Given the description of an element on the screen output the (x, y) to click on. 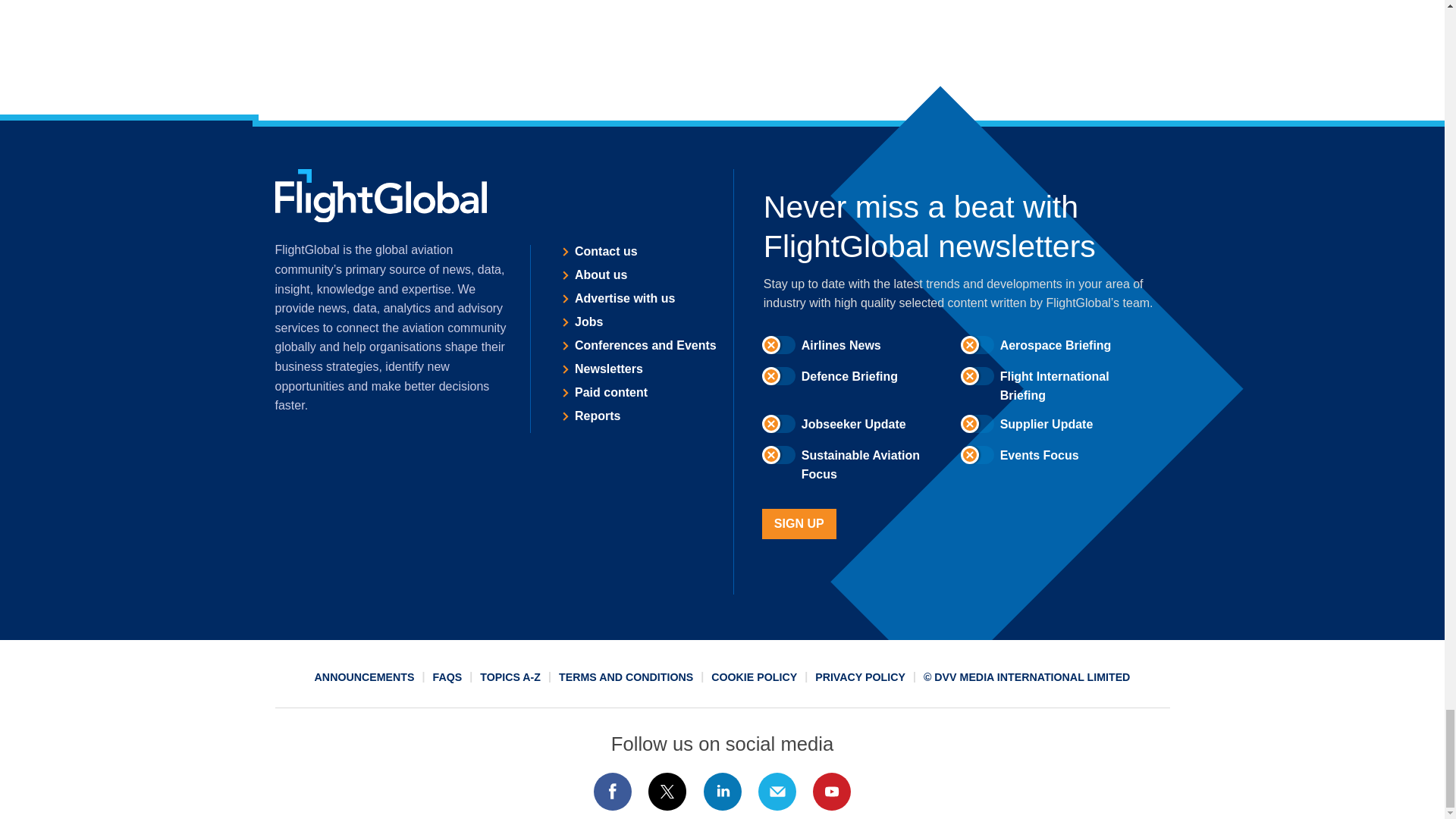
Connect with us on Linked In (721, 791)
Connect with us on Facebook (611, 791)
Connect with us on Twitter (667, 791)
Connect with us on Youtube (831, 791)
Email us (776, 791)
